Given the description of an element on the screen output the (x, y) to click on. 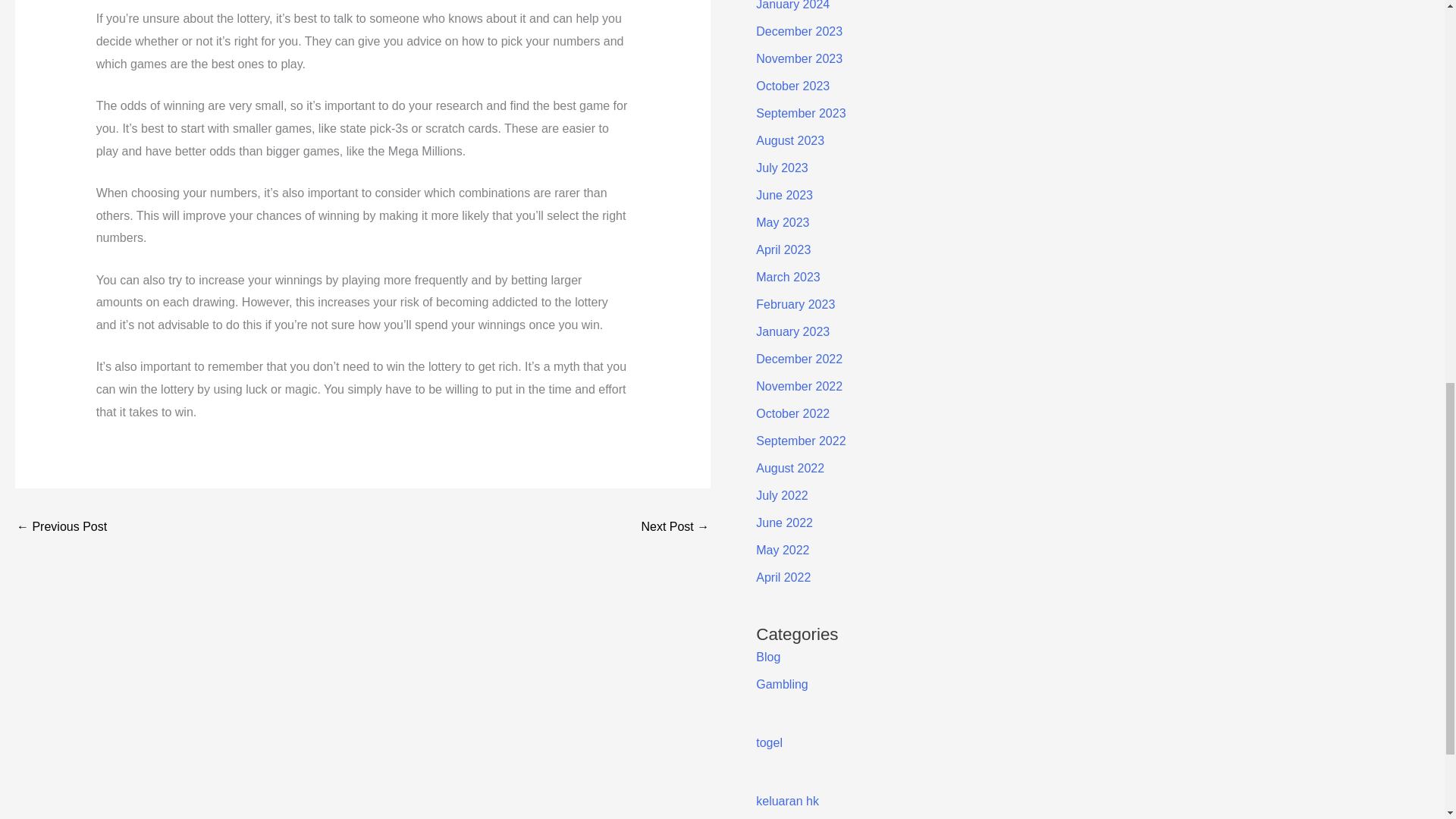
September 2023 (800, 113)
December 2022 (799, 358)
November 2022 (799, 386)
August 2023 (789, 140)
Sports Betting 101 (674, 528)
February 2023 (794, 304)
May 2023 (782, 222)
What Is Law New? (61, 528)
June 2023 (783, 195)
March 2023 (788, 277)
October 2023 (792, 85)
April 2023 (782, 249)
January 2023 (792, 331)
October 2022 (792, 413)
January 2024 (792, 5)
